Given the description of an element on the screen output the (x, y) to click on. 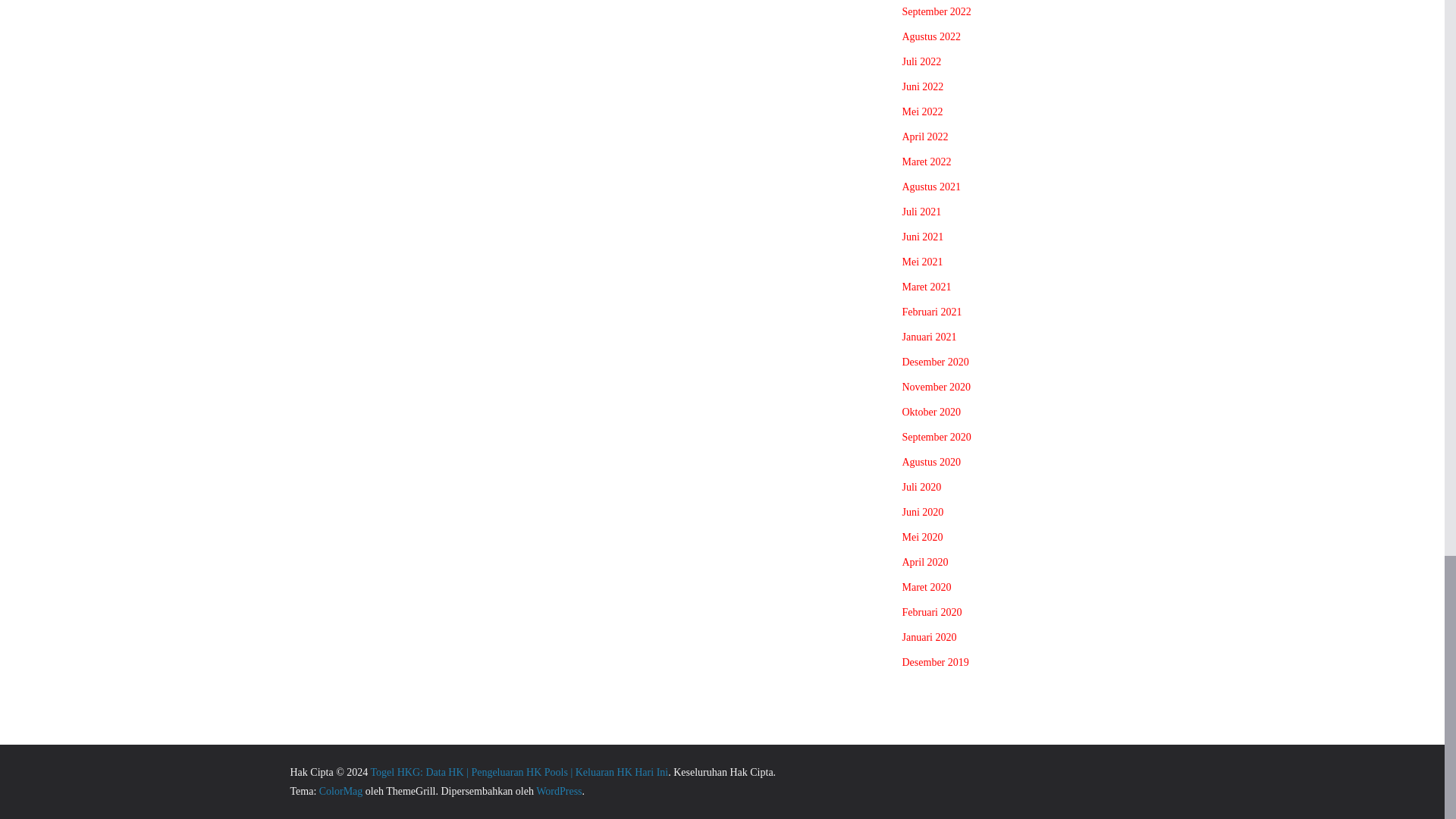
ColorMag (340, 790)
WordPress (557, 790)
